Given the description of an element on the screen output the (x, y) to click on. 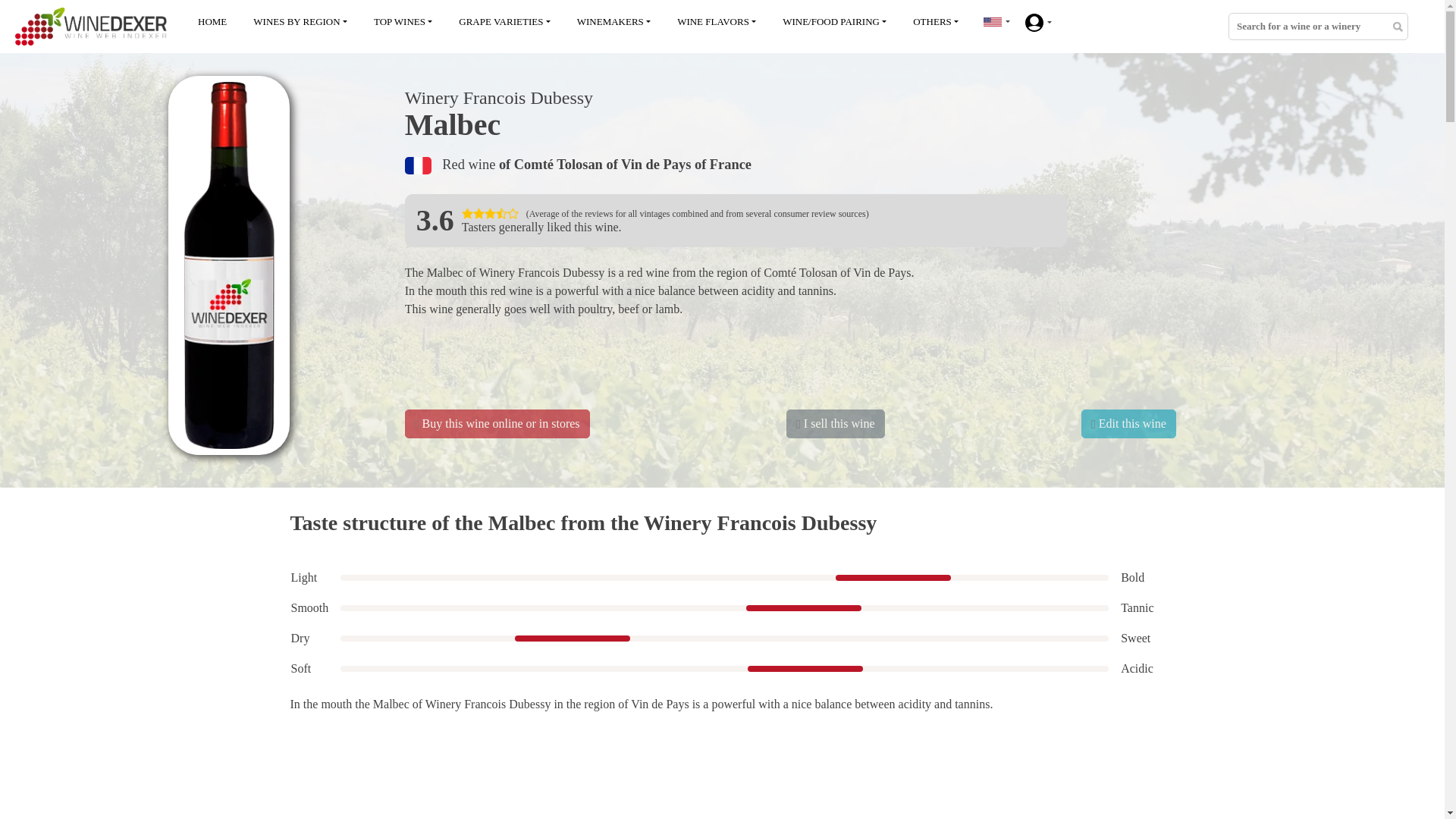
HOME (212, 21)
TOP WINES (402, 21)
Search (1397, 28)
WINES BY REGION (300, 21)
